Given the description of an element on the screen output the (x, y) to click on. 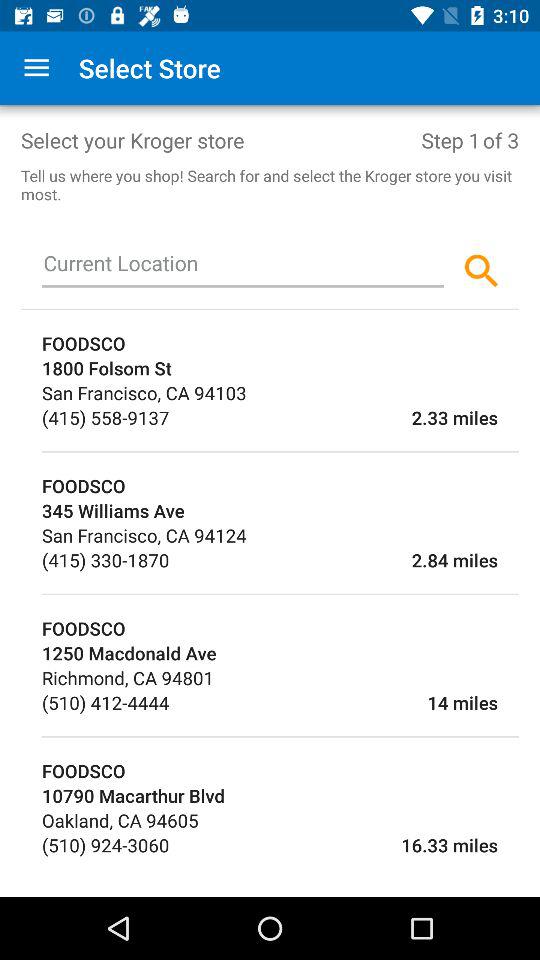
flip to the current location item (243, 267)
